Given the description of an element on the screen output the (x, y) to click on. 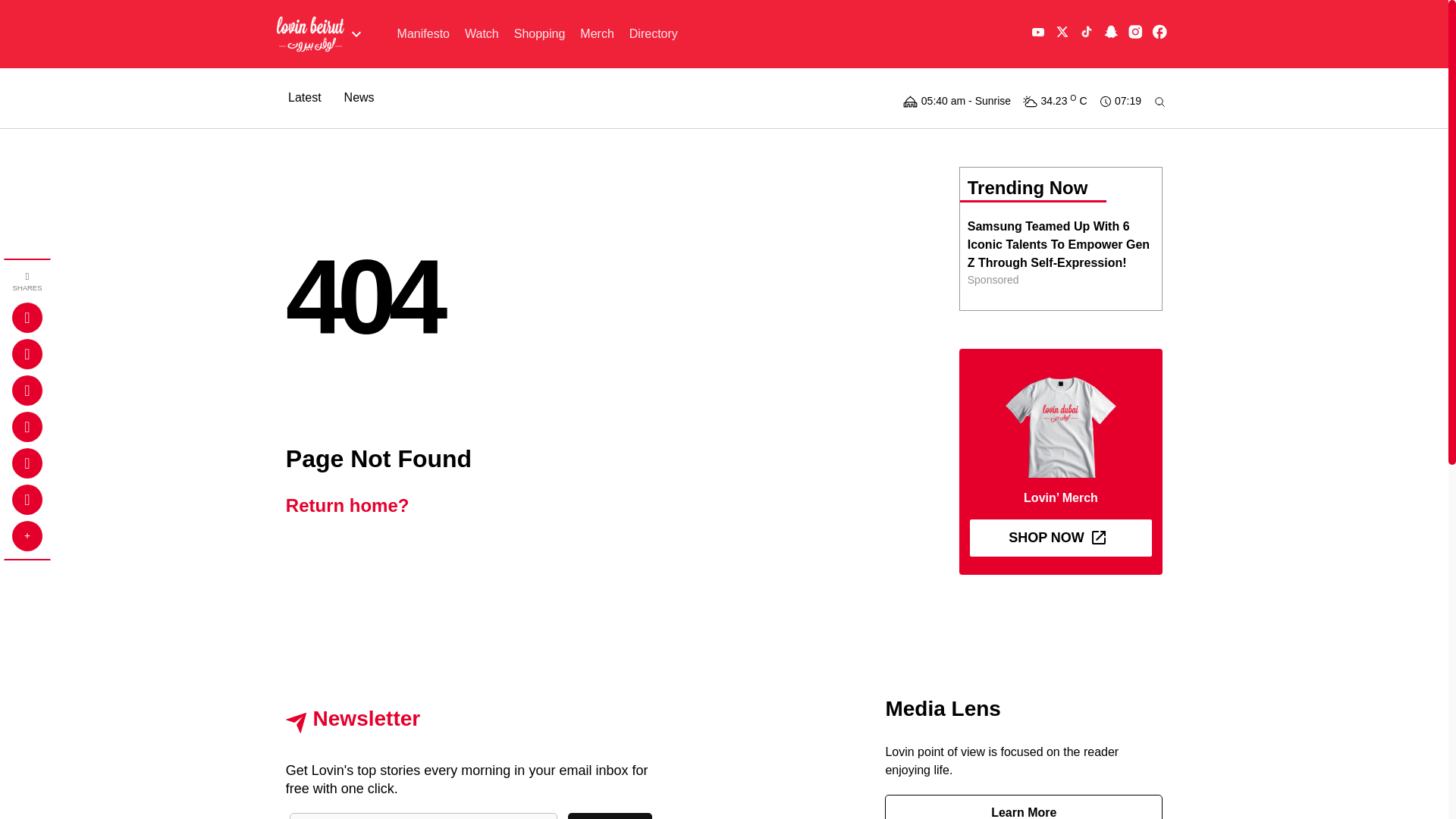
Email this  (27, 426)
WhatsApp (27, 499)
Directory (653, 33)
Manifesto (423, 33)
Latest (305, 97)
Convert to PDF (27, 462)
Tweet this ! (27, 354)
Merch (596, 33)
News (358, 97)
Add this to LinkedIn (27, 390)
05:40 am - Sunrise (956, 97)
Share this on Facebook (27, 317)
More share links (27, 535)
Watch (481, 33)
